Given the description of an element on the screen output the (x, y) to click on. 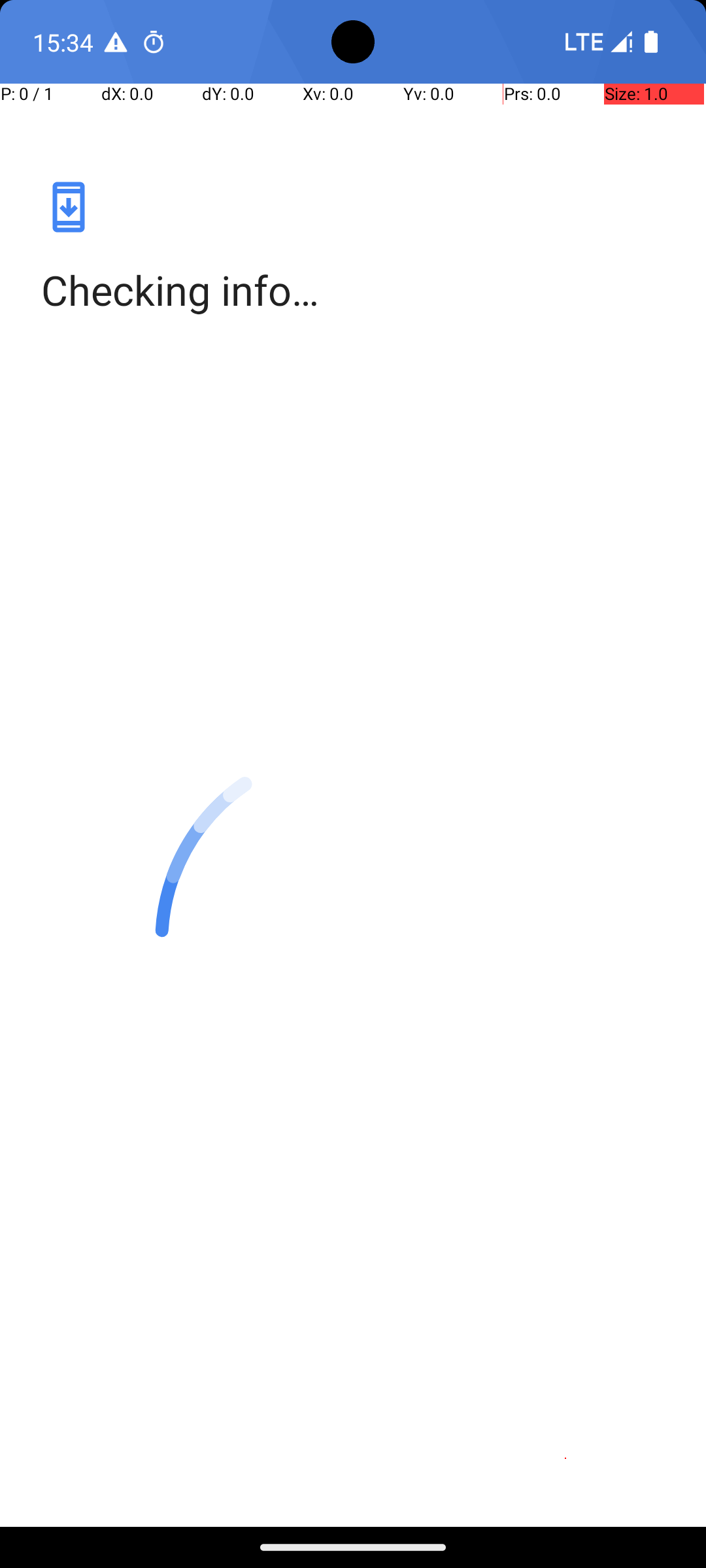
Checking info… Element type: android.widget.TextView (352, 289)
